Given the description of an element on the screen output the (x, y) to click on. 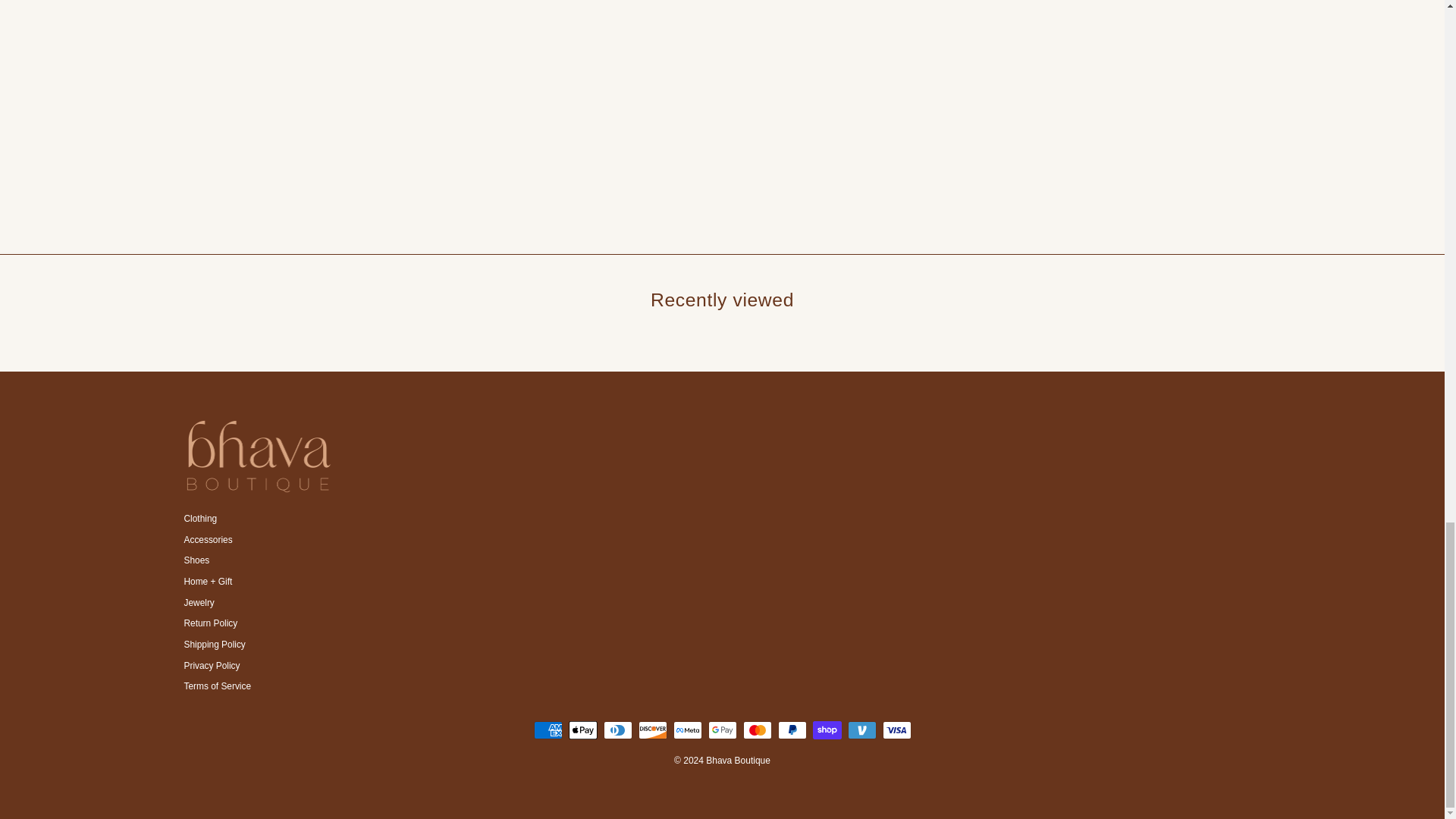
Apple Pay (582, 730)
PayPal (791, 730)
Visa (896, 730)
American Express (548, 730)
Discover (652, 730)
Meta Pay (686, 730)
Mastercard (756, 730)
Venmo (861, 730)
Diners Club (617, 730)
Google Pay (721, 730)
Shop Pay (826, 730)
